Given the description of an element on the screen output the (x, y) to click on. 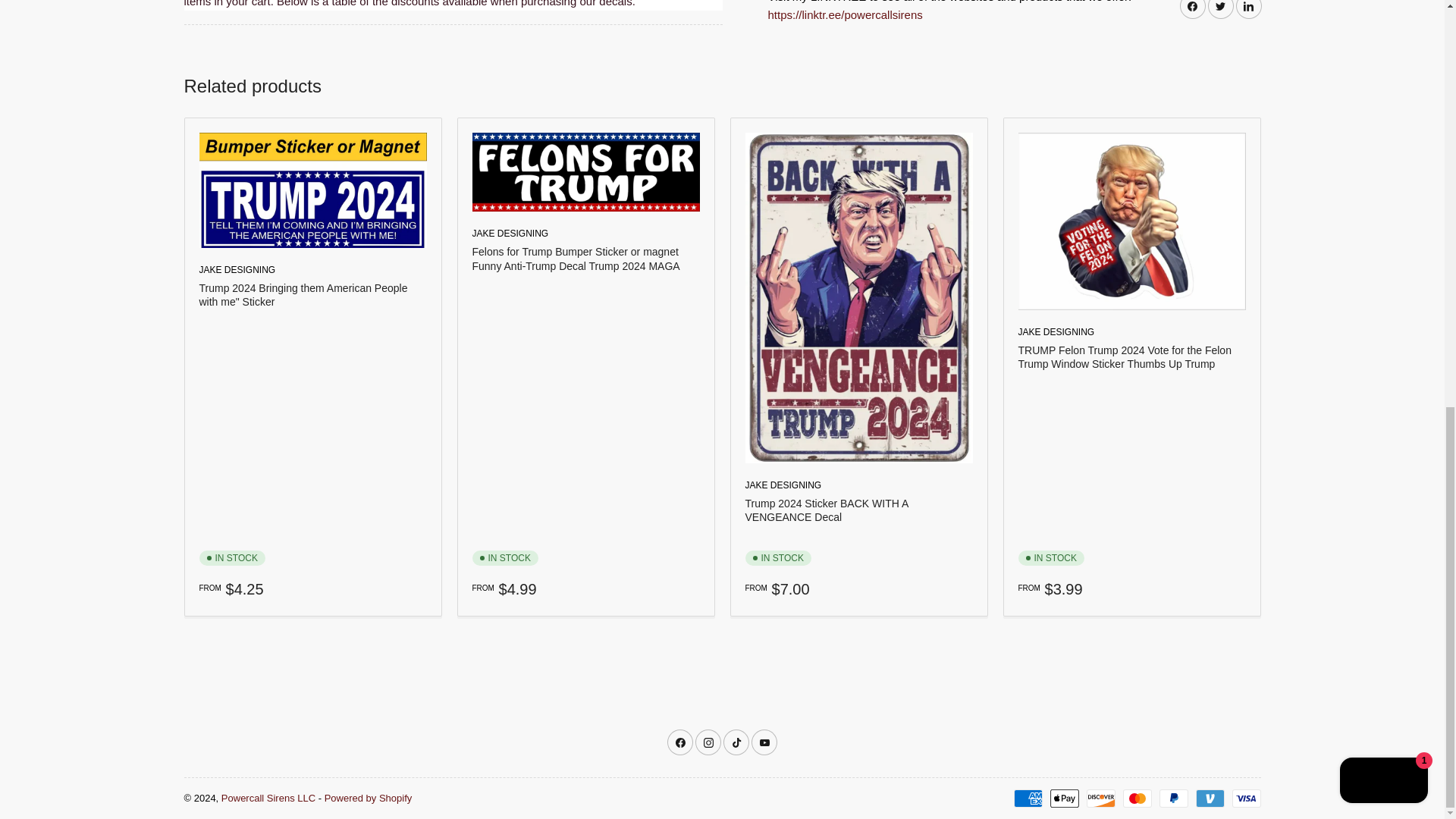
Jake Designing (782, 484)
Jake Designing (236, 269)
Jake Designing (509, 233)
Jake Designing (1055, 331)
American Express (1027, 798)
